Given the description of an element on the screen output the (x, y) to click on. 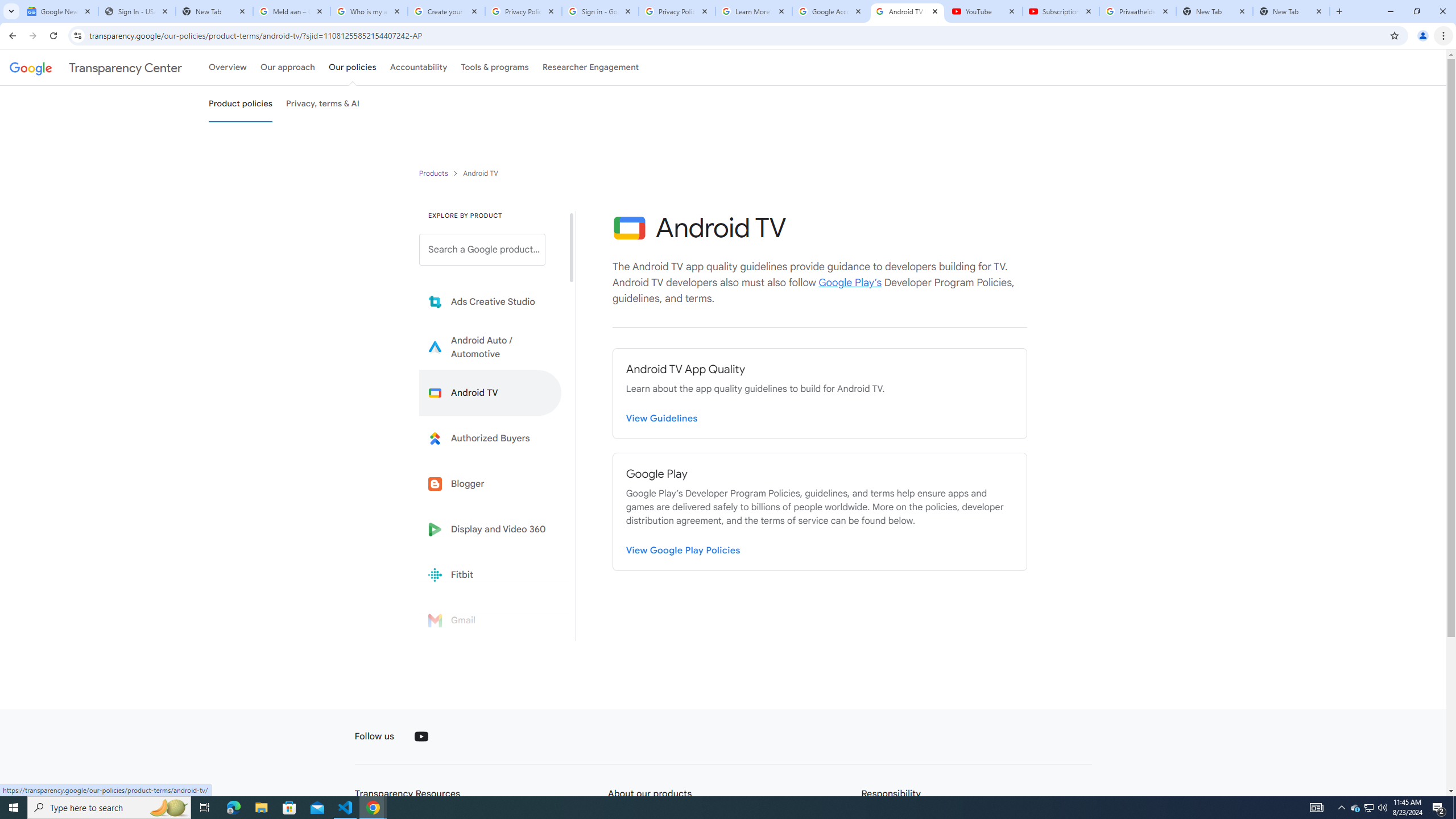
Fitbit (490, 574)
Create your Google Account (446, 11)
Gmail (490, 619)
Sign In - USA TODAY (136, 11)
Blogger (490, 483)
Researcher Engagement (590, 67)
Learn more about Android Auto (490, 347)
Google Account (830, 11)
Transparency Center (95, 67)
